Given the description of an element on the screen output the (x, y) to click on. 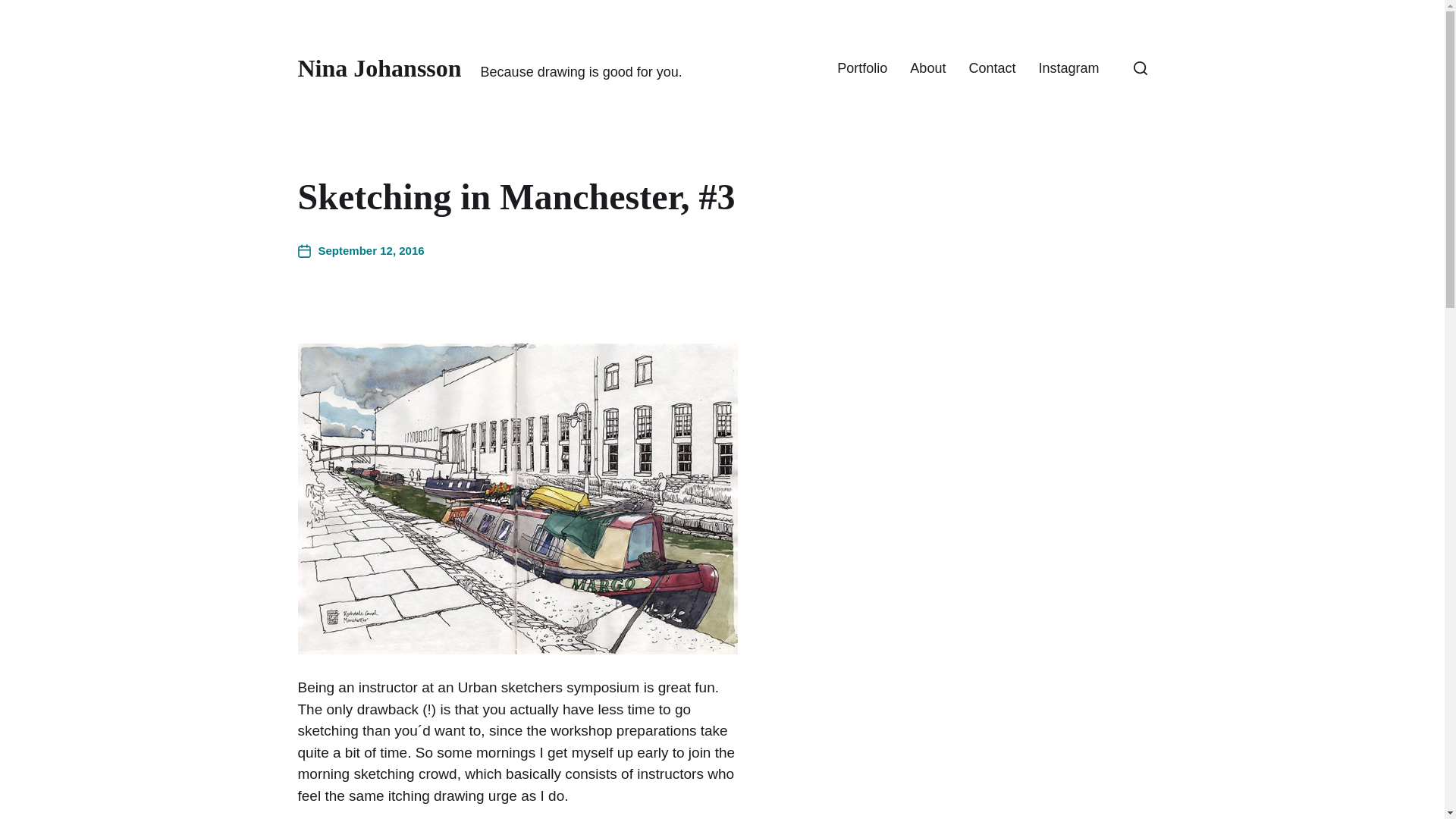
September 12, 2016 (360, 251)
Contact (991, 68)
About (927, 68)
Portfolio (861, 68)
Instagram (1068, 68)
Nina Johansson (379, 68)
